Given the description of an element on the screen output the (x, y) to click on. 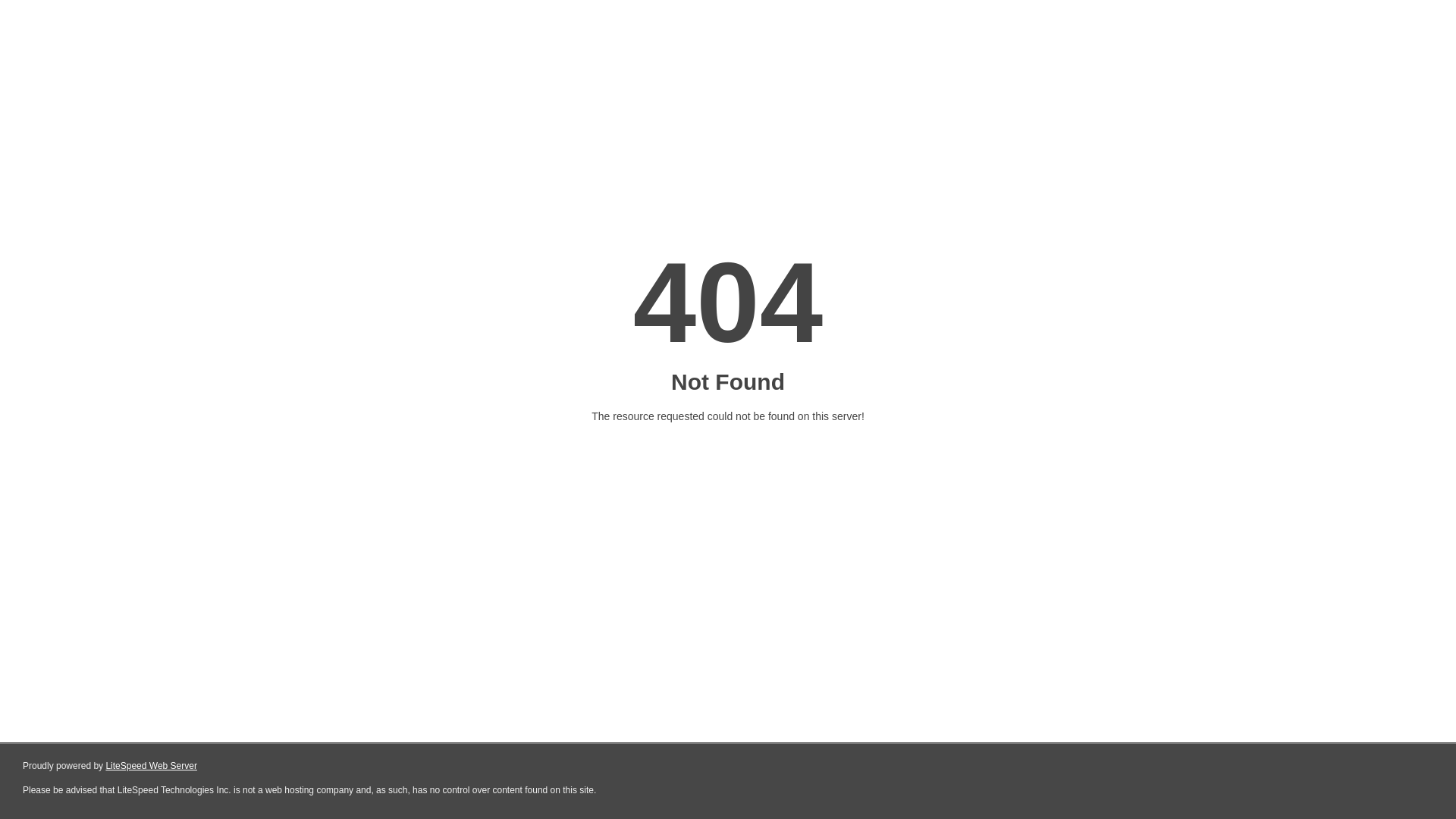
LiteSpeed Web Server (150, 765)
